Given the description of an element on the screen output the (x, y) to click on. 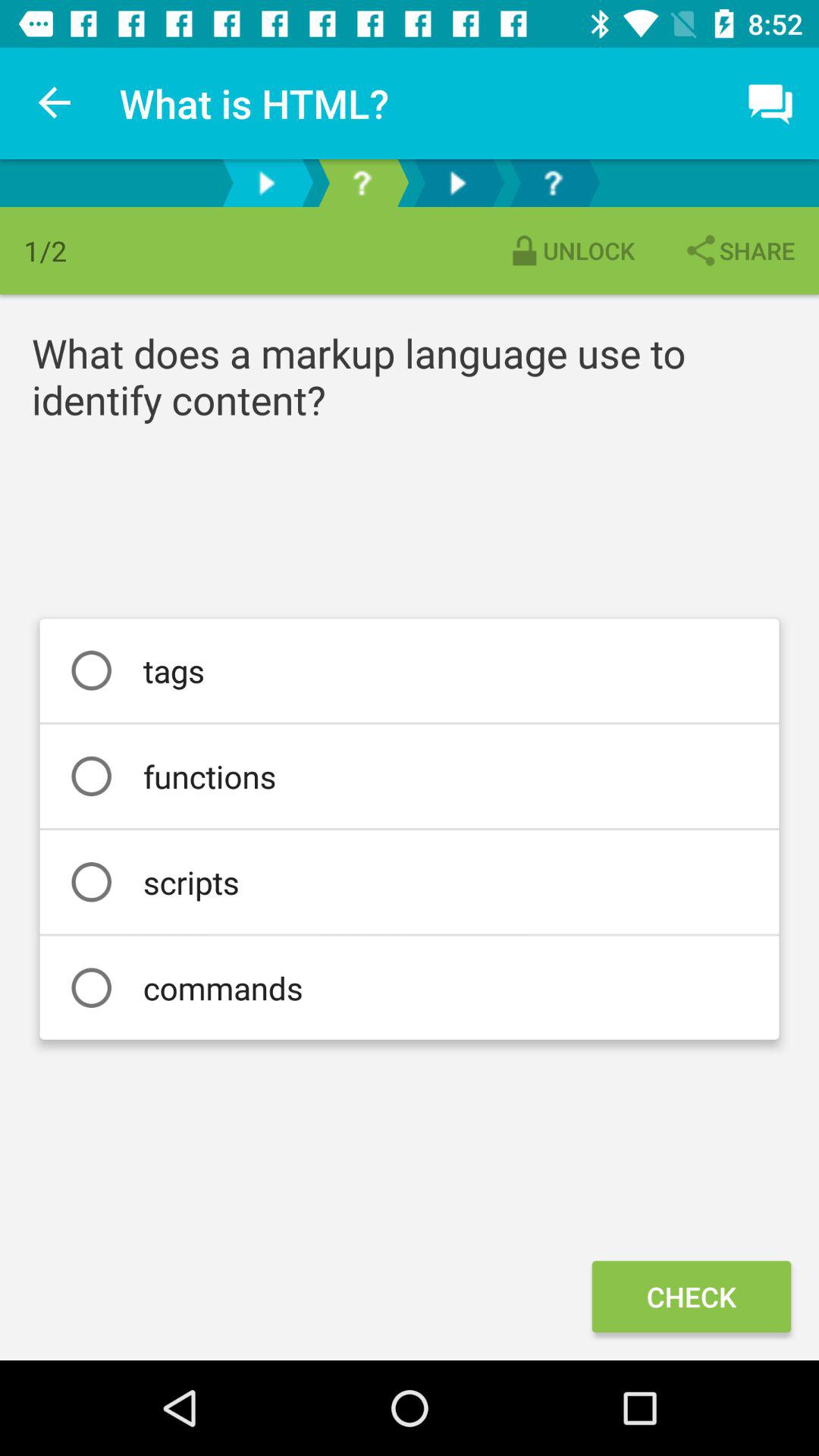
tap icon next to share icon (570, 250)
